Given the description of an element on the screen output the (x, y) to click on. 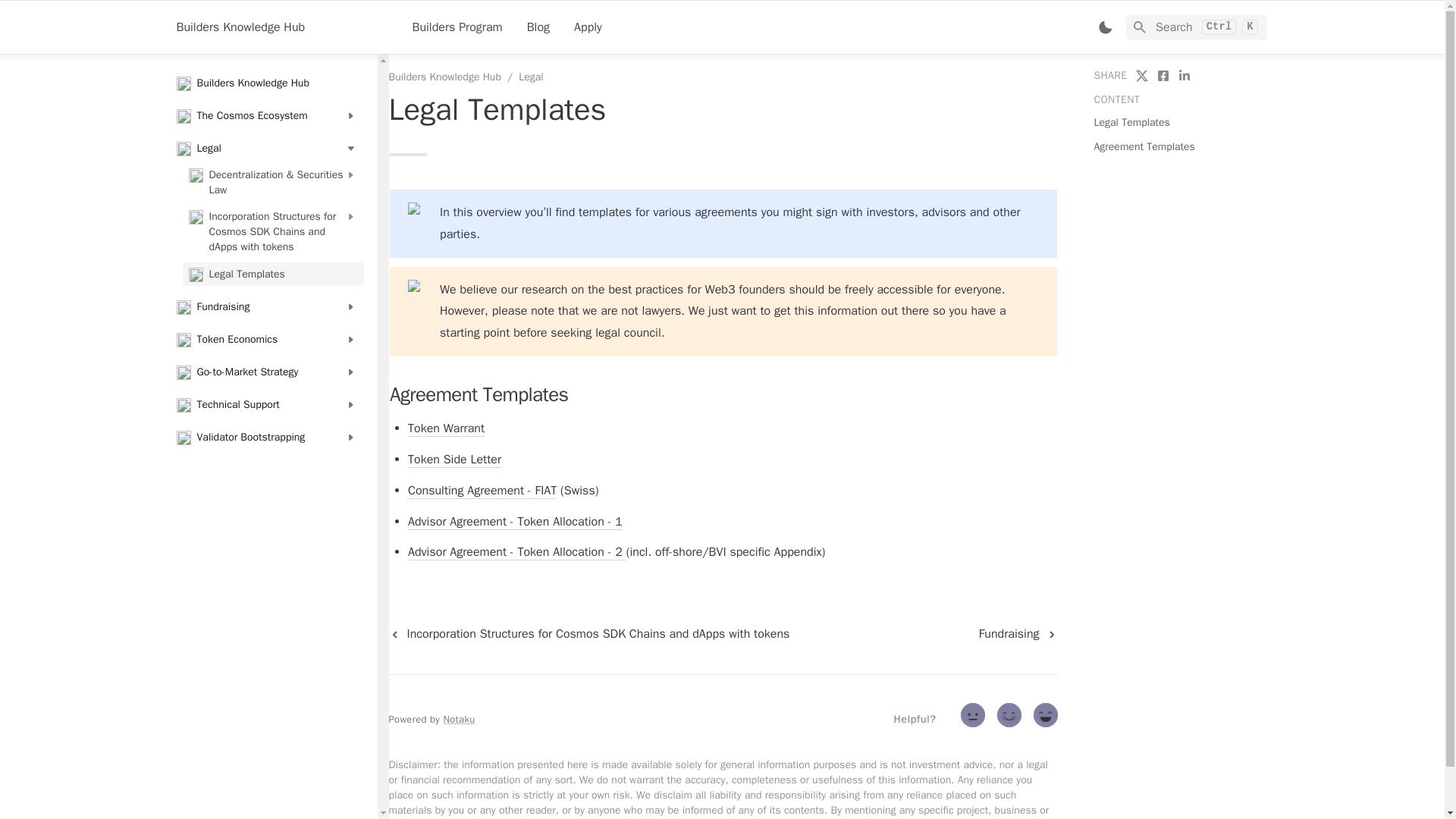
Apply (587, 27)
Builders Knowledge Hub (266, 83)
Token Side Letter (453, 459)
Fundraising (1018, 633)
Legal Templates (1131, 122)
Advisor Agreement - Token Allocation - 1 (515, 521)
Agreement Templates (1143, 146)
Token Warrant (445, 428)
Validator Bootstrapping (266, 437)
Technical Support (266, 404)
